Given the description of an element on the screen output the (x, y) to click on. 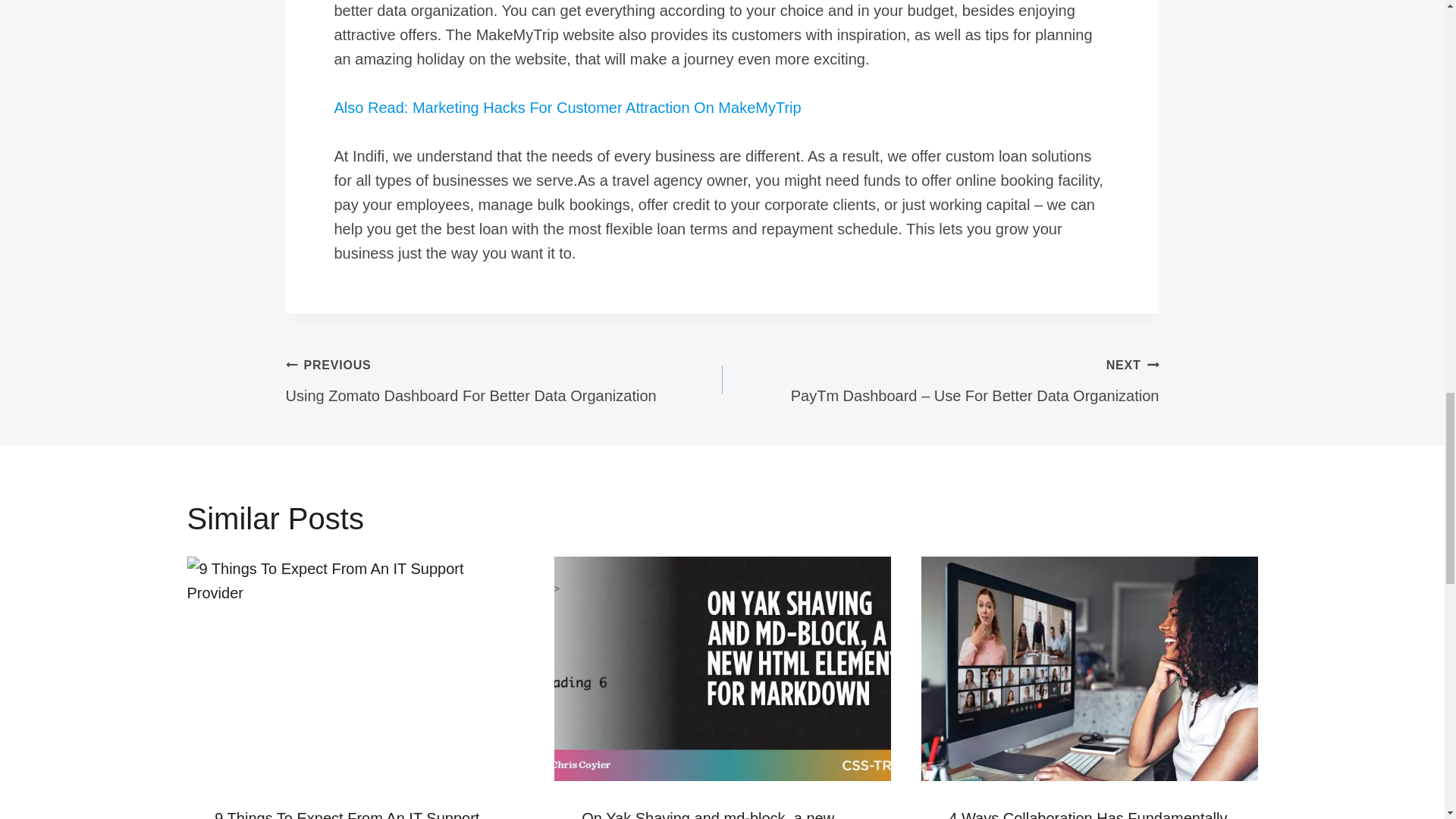
9 Things To Expect From An IT Support Provider (346, 814)
On Yak Shaving and md-block, a new HTML element for Markdown (707, 814)
4 Ways Collaboration Has Fundamentally Changed (503, 379)
